Given the description of an element on the screen output the (x, y) to click on. 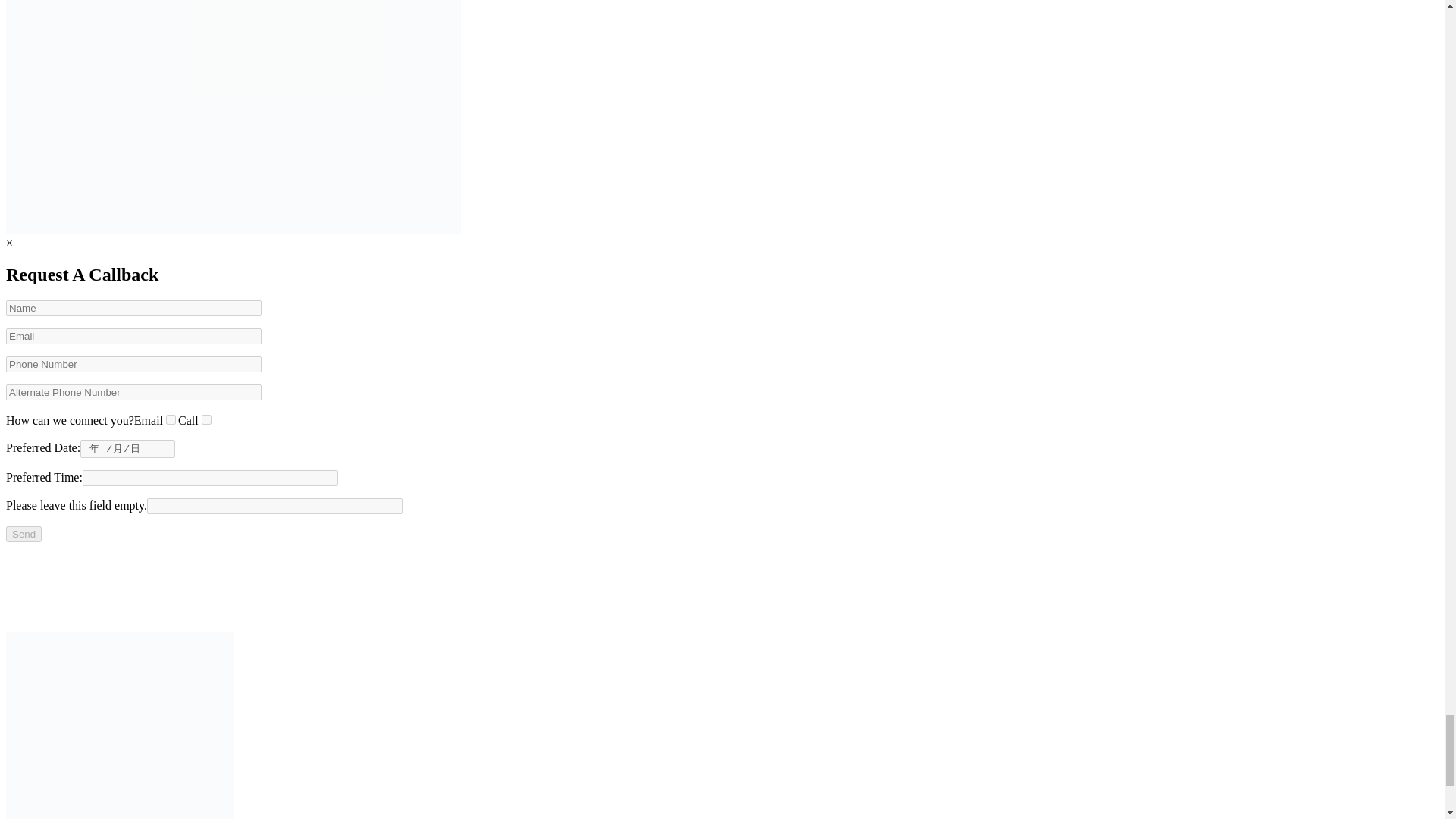
Email (170, 419)
Call (206, 419)
Send (23, 534)
